Given the description of an element on the screen output the (x, y) to click on. 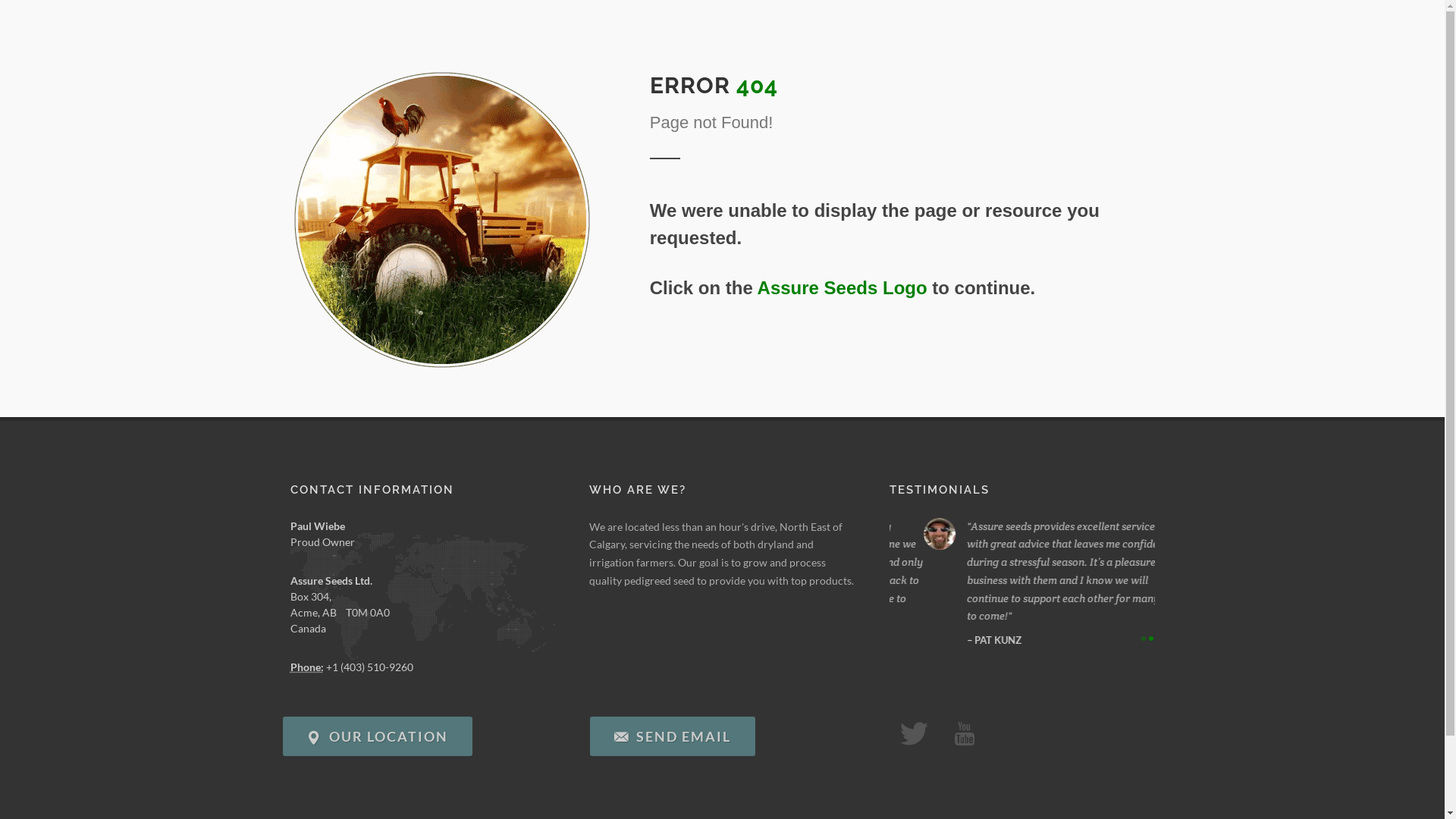
1 Element type: text (1142, 636)
 SEND EMAIL Element type: text (672, 735)
 OUR LOCATION Element type: text (376, 735)
2 Element type: text (1150, 636)
Paul Wiebe Element type: text (316, 524)
Assure Seeds Ltd. Element type: text (330, 579)
